Given the description of an element on the screen output the (x, y) to click on. 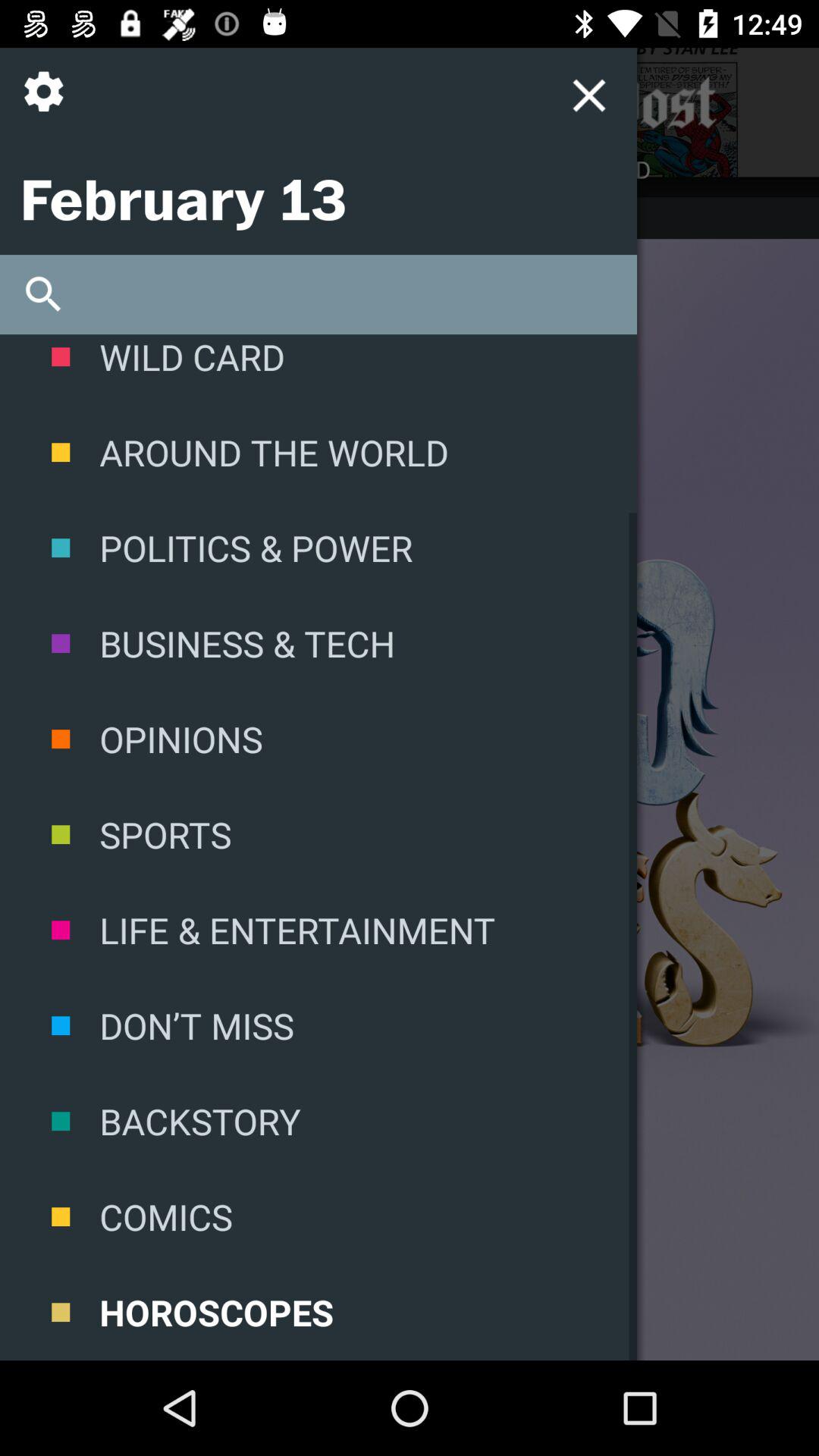
select the icon above february 13 app (49, 103)
